Given the description of an element on the screen output the (x, y) to click on. 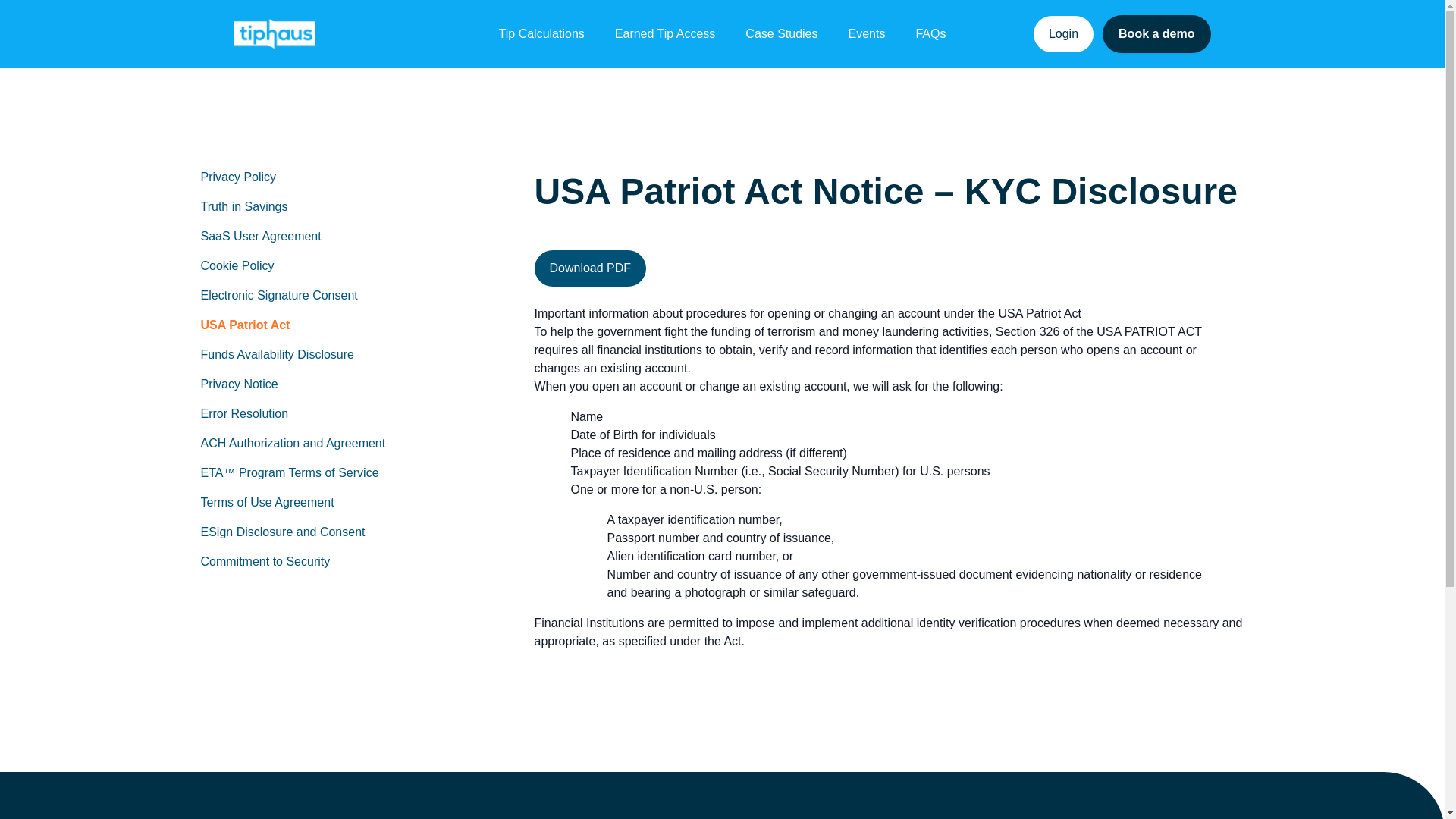
ACH Authorization and Agreement (292, 442)
Tiphaus (273, 33)
Events (865, 34)
ESign Disclosure and Consent (282, 531)
FAQs (929, 34)
USA Patriot Act (244, 324)
Case Studies (781, 34)
Terms of Use Agreement (266, 502)
Privacy Policy (238, 176)
Error Resolution (244, 413)
